Given the description of an element on the screen output the (x, y) to click on. 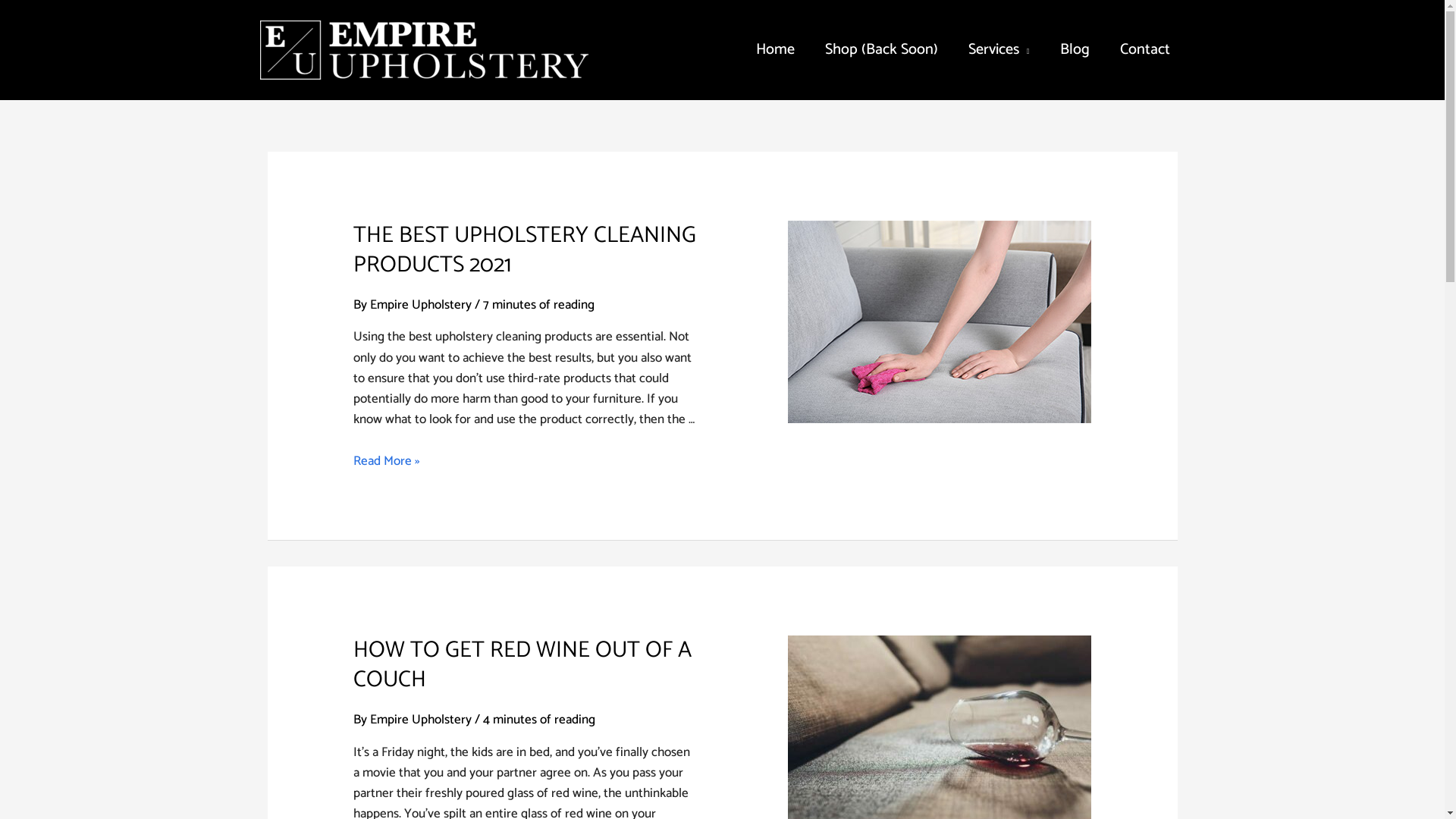
Empire Upholstery Element type: text (422, 304)
Empire Upholstery Element type: text (422, 719)
Home Element type: text (774, 49)
Shop (Back Soon) Element type: text (881, 49)
THE BEST UPHOLSTERY CLEANING PRODUCTS 2021 Element type: text (524, 249)
HOW TO GET RED WINE OUT OF A COUCH Element type: text (522, 664)
Services Element type: text (998, 49)
Blog Element type: text (1074, 49)
Contact Element type: text (1144, 49)
